Given the description of an element on the screen output the (x, y) to click on. 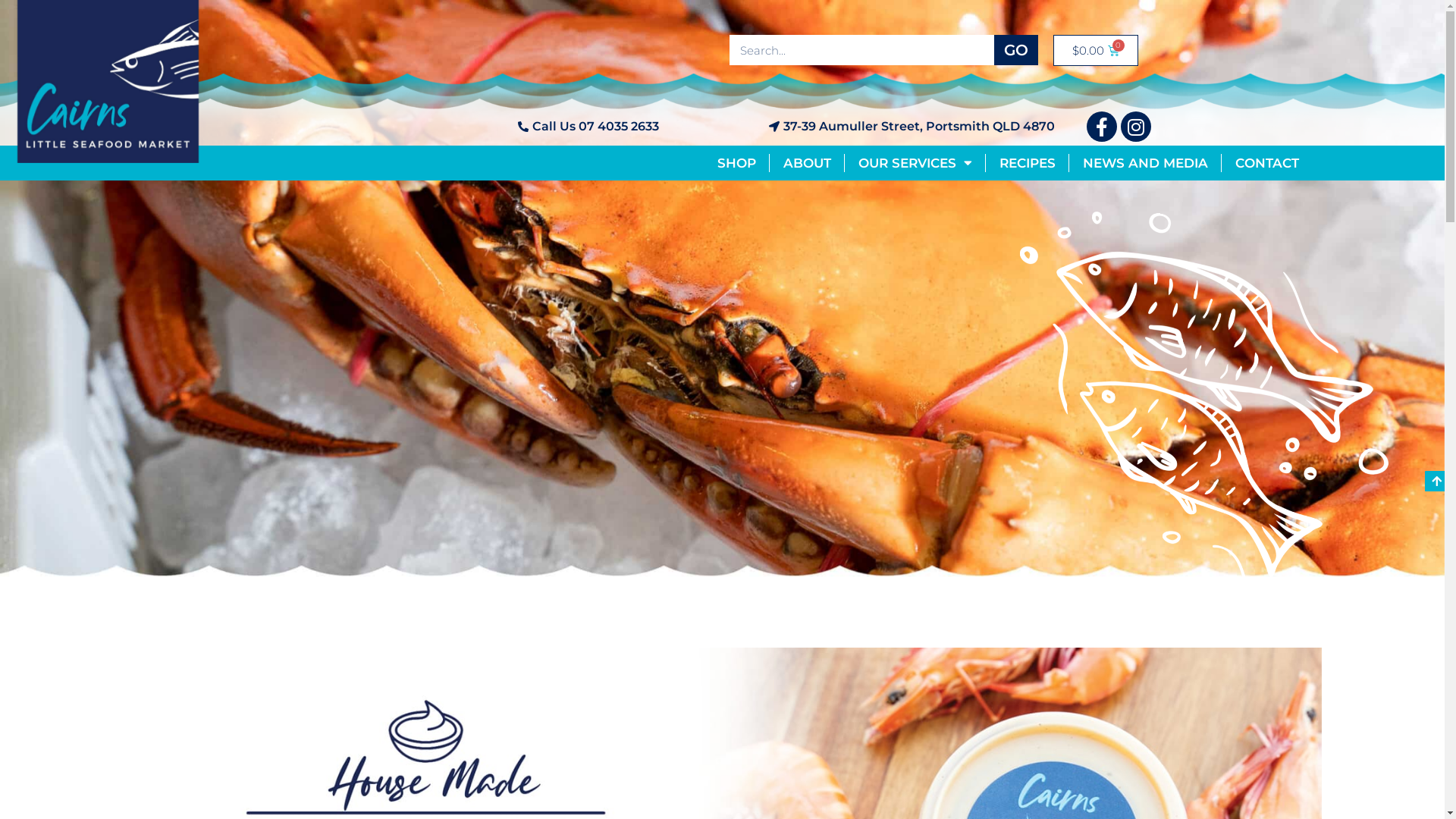
GO Element type: text (1016, 49)
ABOUT Element type: text (807, 162)
CONTACT Element type: text (1267, 162)
RECIPES Element type: text (1026, 162)
37-39 Aumuller Street, Portsmith QLD 4870 Element type: text (856, 126)
Call Us 07 4035 2633 Element type: text (473, 126)
$0.00
0 Element type: text (1095, 49)
OUR SERVICES Element type: text (914, 162)
SHOP Element type: text (735, 162)
NEWS AND MEDIA Element type: text (1144, 162)
